Given the description of an element on the screen output the (x, y) to click on. 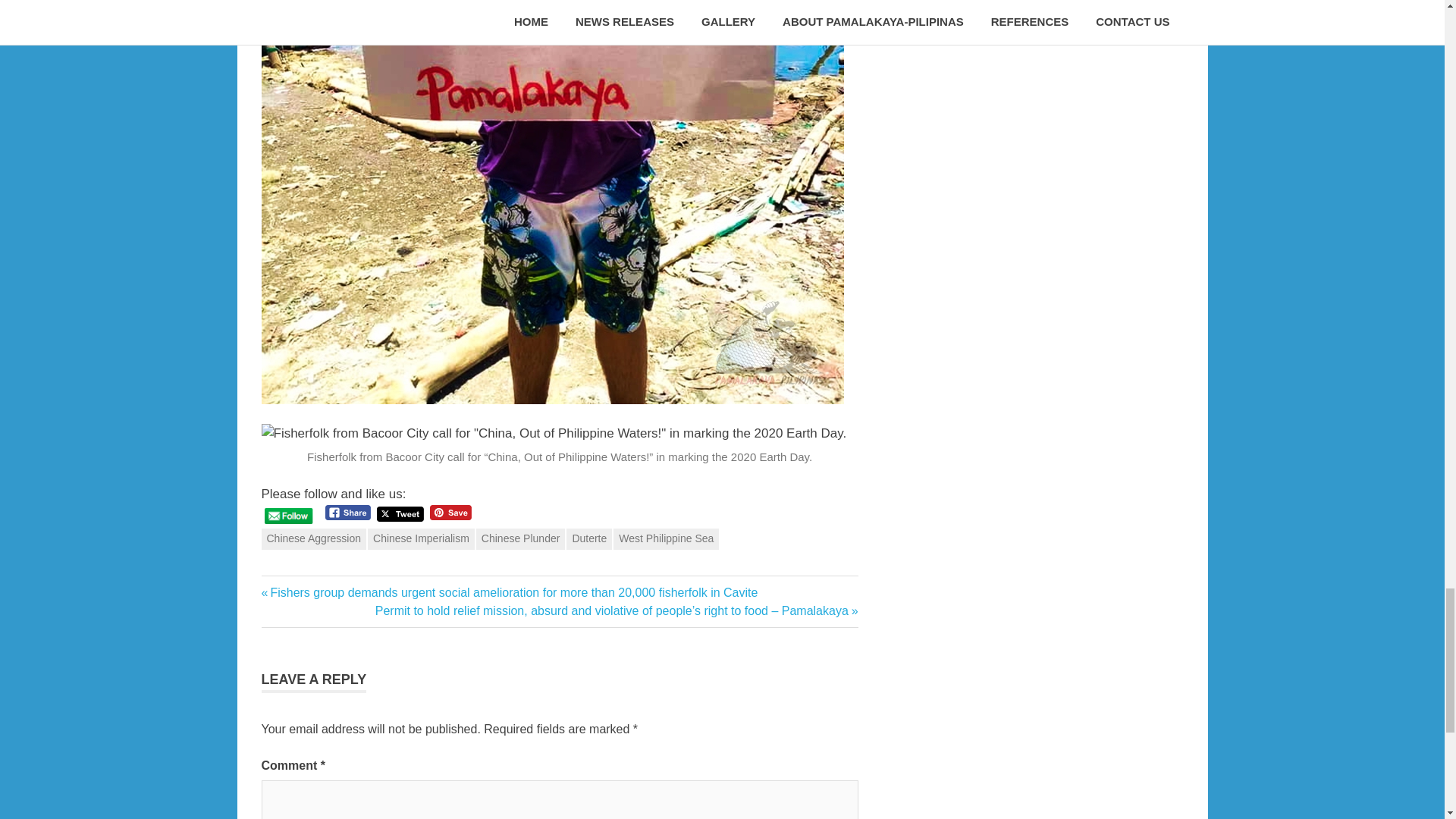
Tweet (400, 514)
Pin Share (450, 512)
Duterte (588, 538)
Chinese Plunder (521, 538)
West Philippine Sea (665, 538)
Chinese Aggression (313, 538)
Facebook Share (347, 512)
Chinese Imperialism (421, 538)
